Given the description of an element on the screen output the (x, y) to click on. 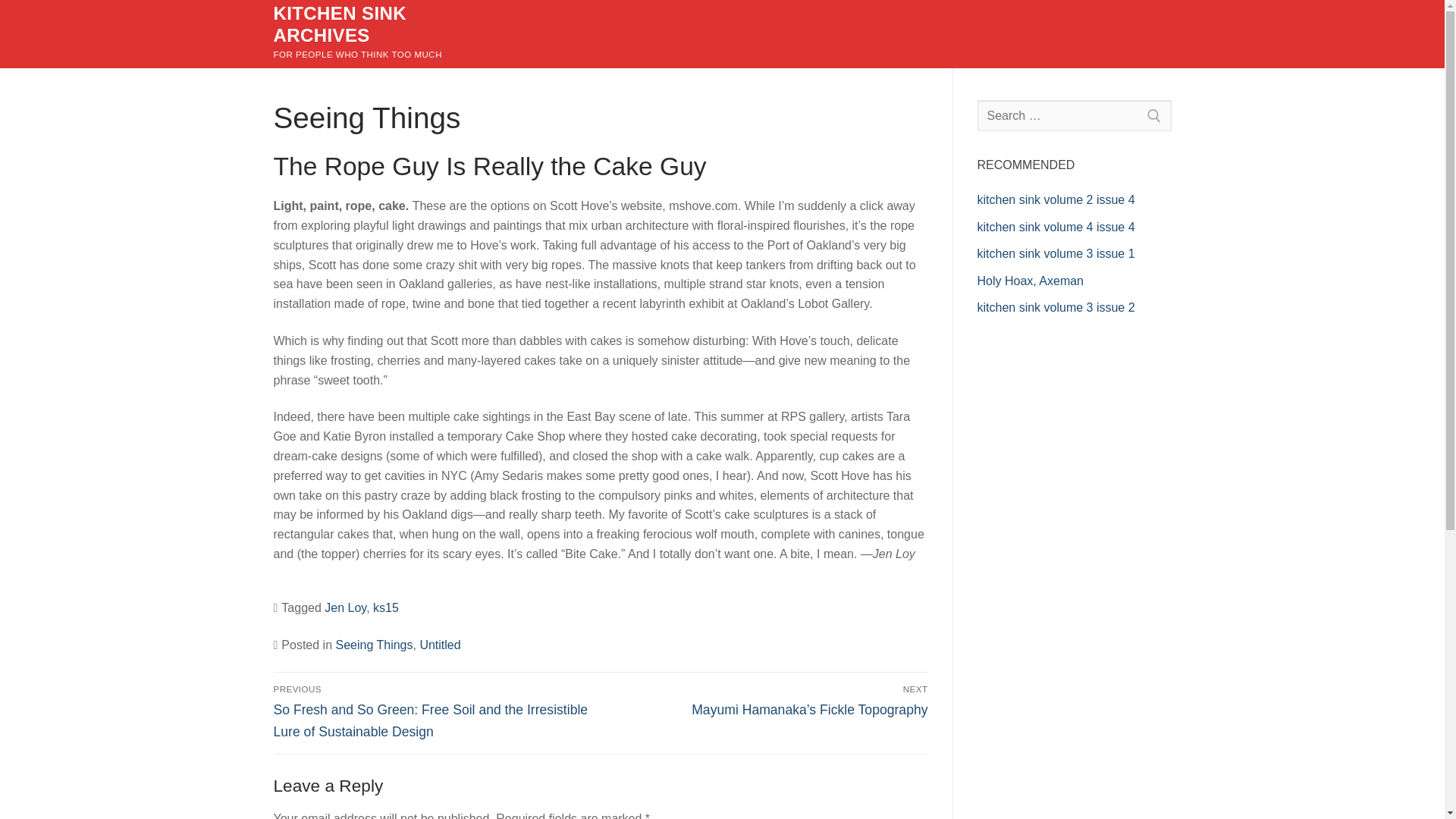
Seeing Things (373, 644)
KITCHEN SINK ARCHIVES (380, 23)
Jen Loy (345, 607)
kitchen sink volume 4 issue 4 (1055, 226)
Search for: (1073, 115)
Holy Hoax, Axeman (1029, 280)
Untitled (439, 644)
kitchen sink volume 3 issue 1 (1055, 253)
kitchen sink volume 2 issue 4 (1055, 199)
kitchen sink volume 3 issue 2 (1055, 307)
ks15 (385, 607)
